Given the description of an element on the screen output the (x, y) to click on. 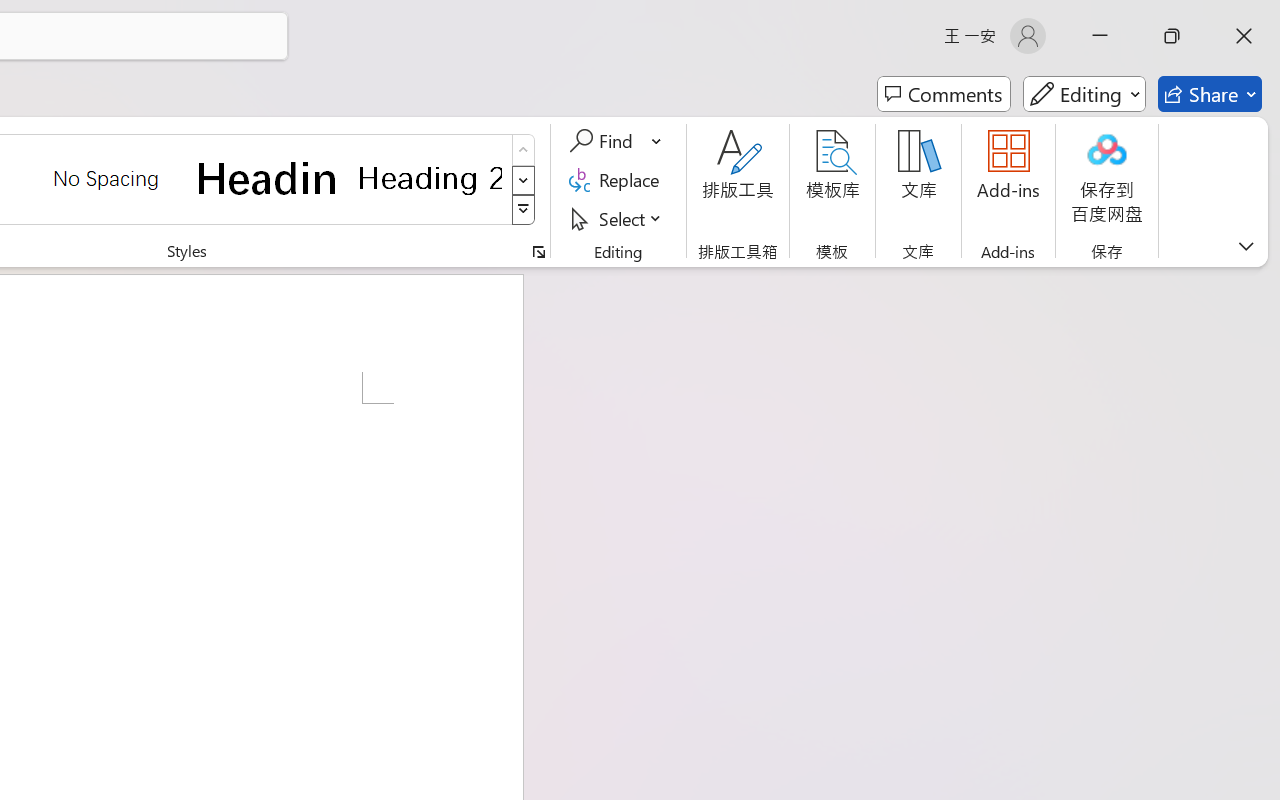
Styles (523, 209)
Select (618, 218)
